Given the description of an element on the screen output the (x, y) to click on. 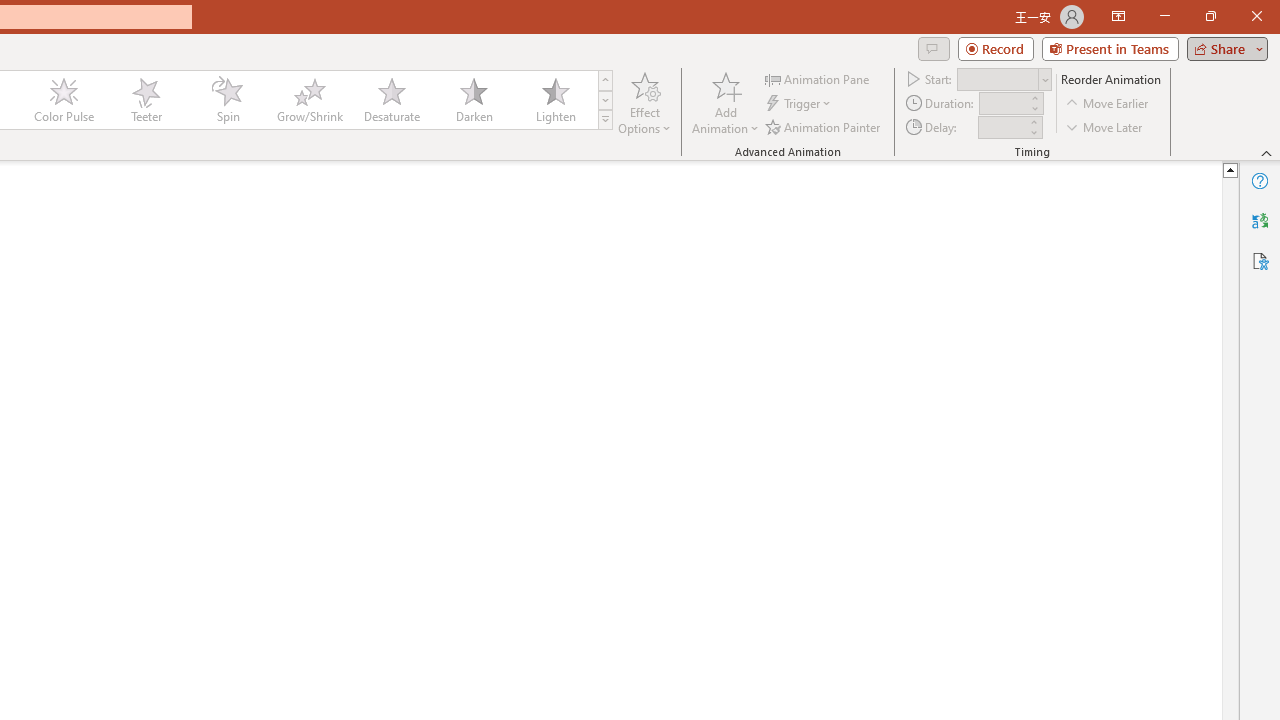
Desaturate (391, 100)
Animation Styles (605, 120)
Animation Painter (824, 126)
